Given the description of an element on the screen output the (x, y) to click on. 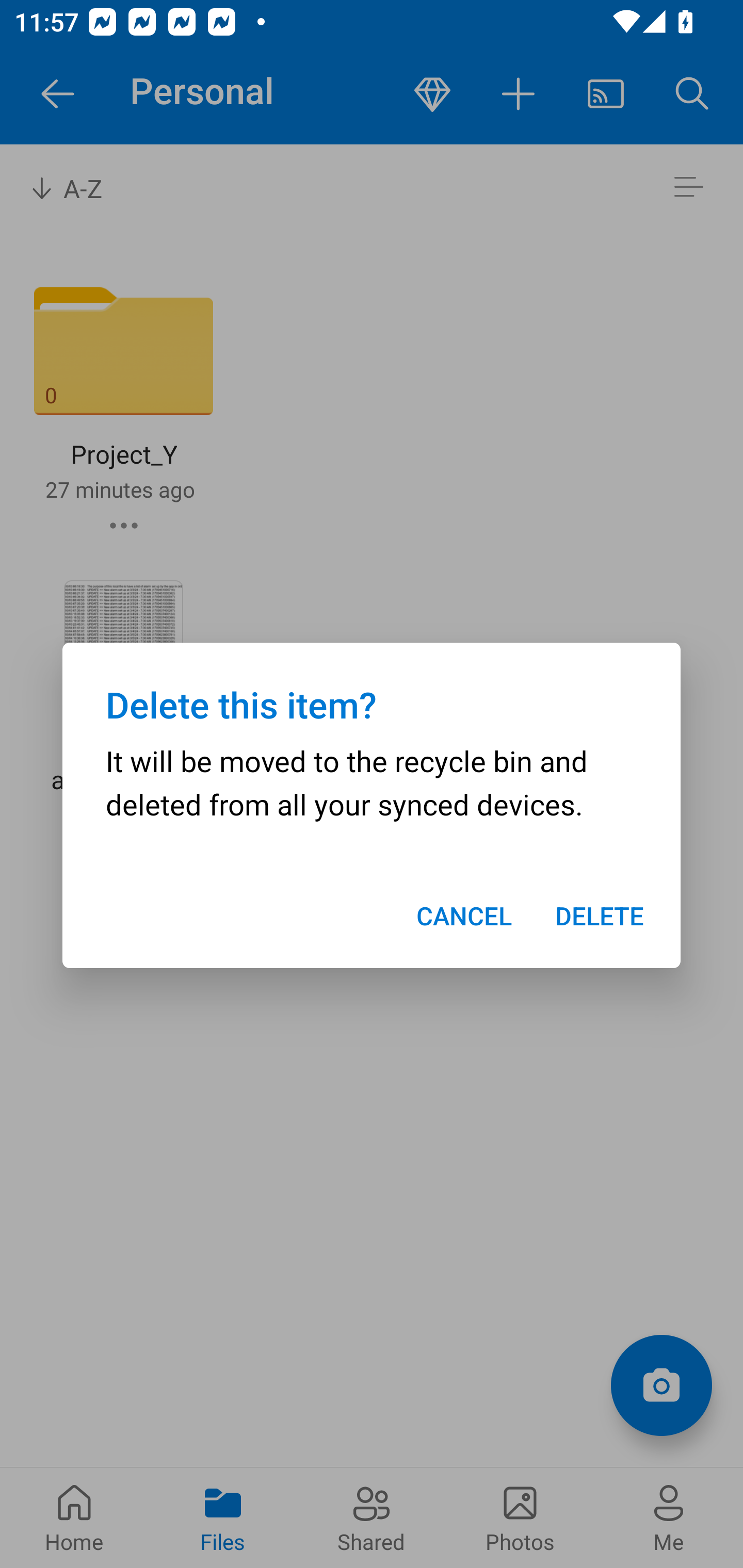
CANCEL (463, 915)
DELETE (599, 915)
